Given the description of an element on the screen output the (x, y) to click on. 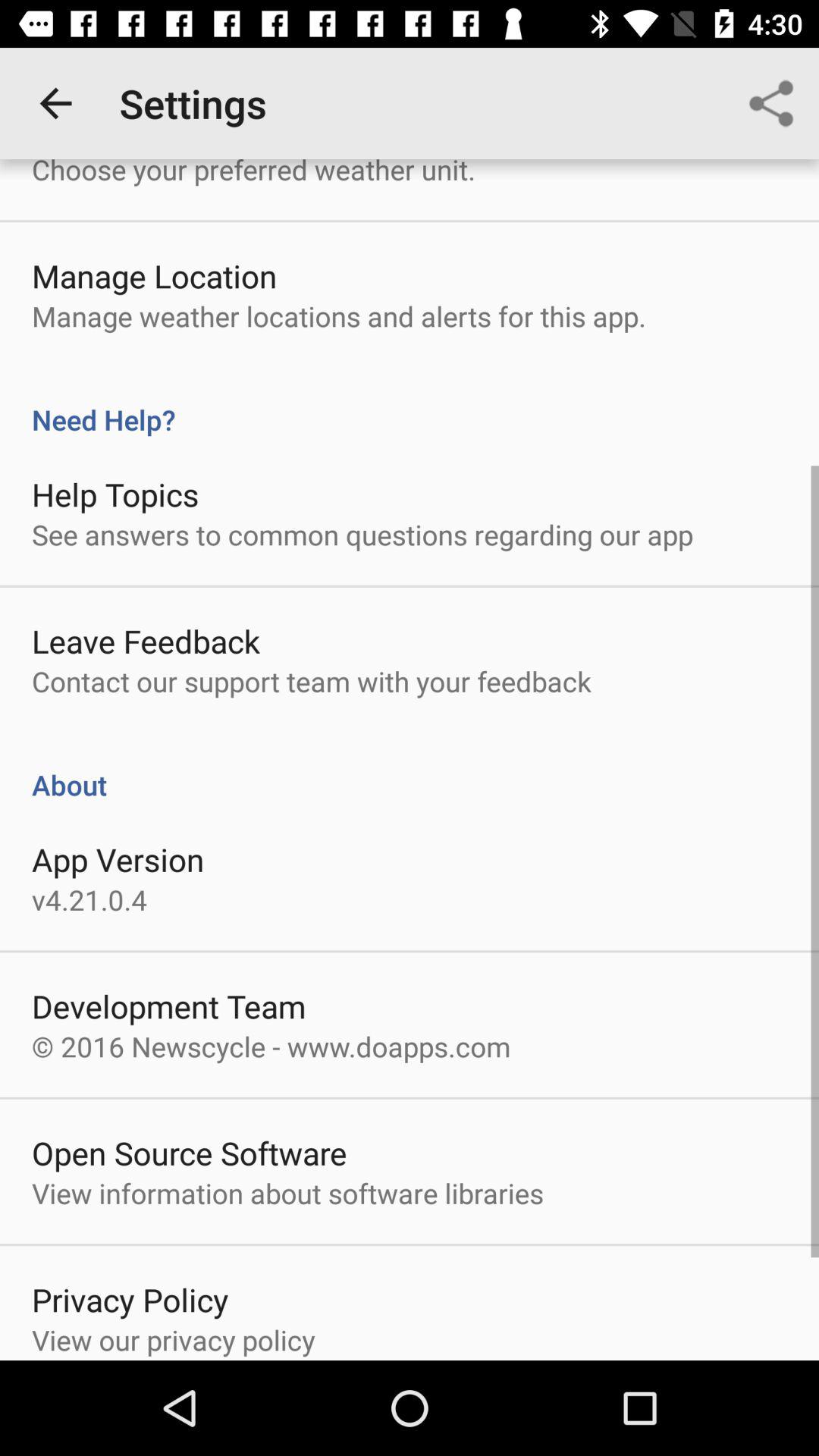
choose item above the about item (311, 681)
